Given the description of an element on the screen output the (x, y) to click on. 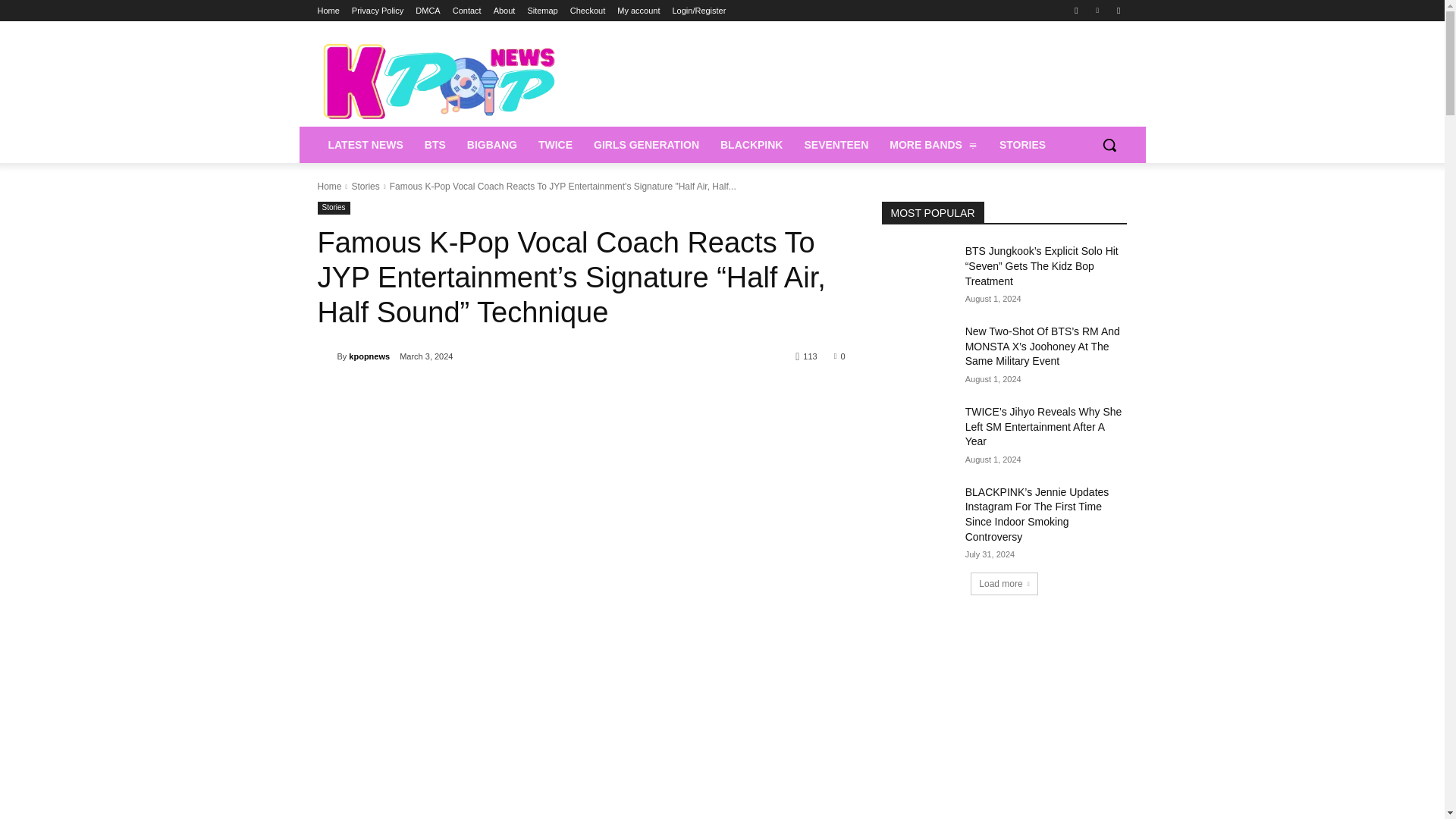
RSS (1117, 9)
KPOP News Logo (438, 80)
Pinterest (1097, 9)
kpopnews (326, 355)
BTS (435, 144)
TWICE (555, 144)
LATEST NEWS (365, 144)
View all posts in Stories (364, 185)
Sitemap (542, 10)
Checkout (587, 10)
BIGBANG (492, 144)
Home (328, 10)
Facebook (1075, 9)
About (504, 10)
Privacy Policy (377, 10)
